Given the description of an element on the screen output the (x, y) to click on. 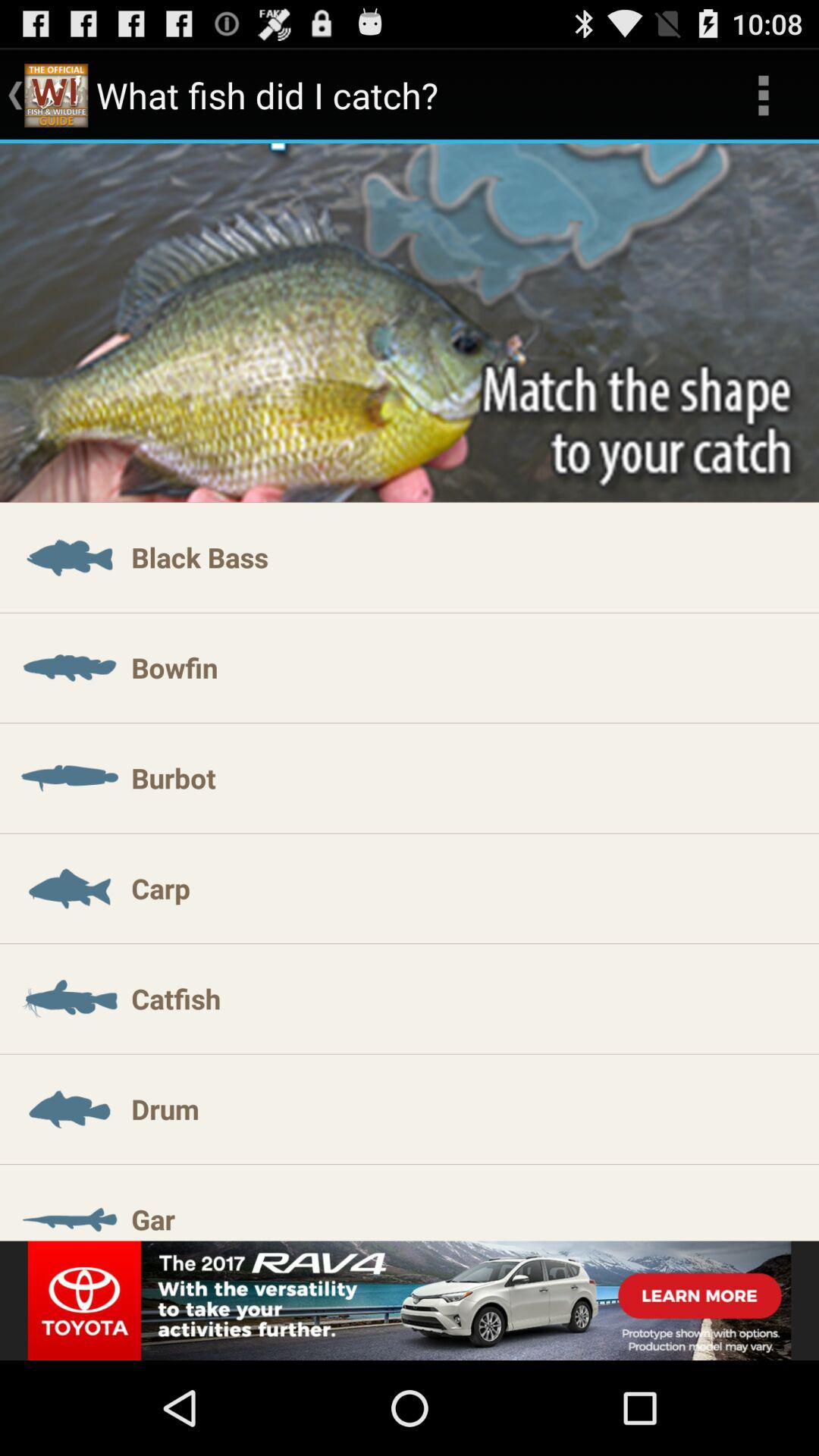
advertisement image (409, 1300)
